Given the description of an element on the screen output the (x, y) to click on. 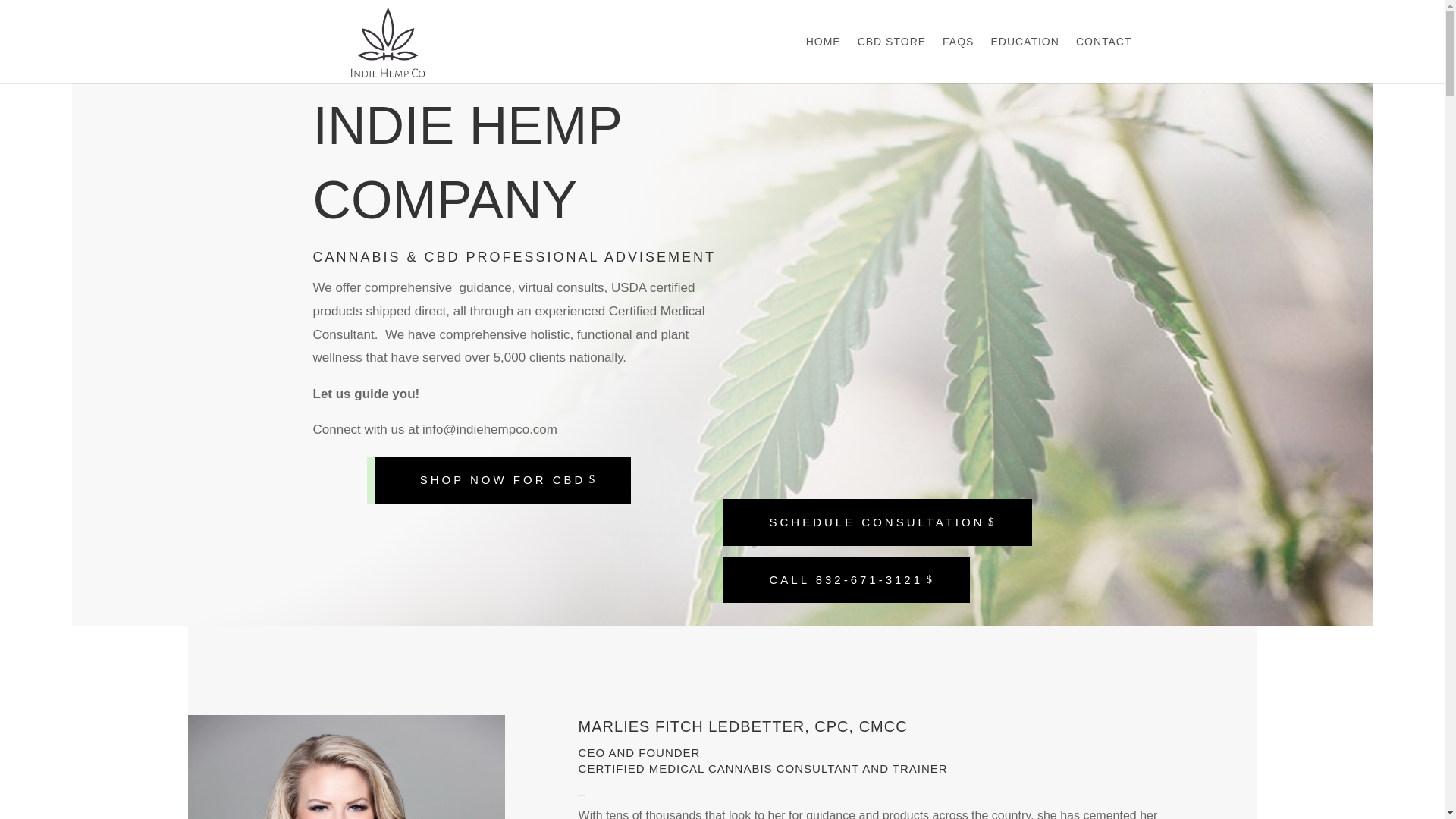
MARLIES HEADSHOT 2022 (346, 766)
CBD STORE (891, 59)
SHOP NOW FOR CBD (502, 479)
SCHEDULE CONSULTATION (876, 522)
CALL 832-671-3121 (845, 579)
EDUCATION (1024, 59)
CONTACT (1103, 59)
